Given the description of an element on the screen output the (x, y) to click on. 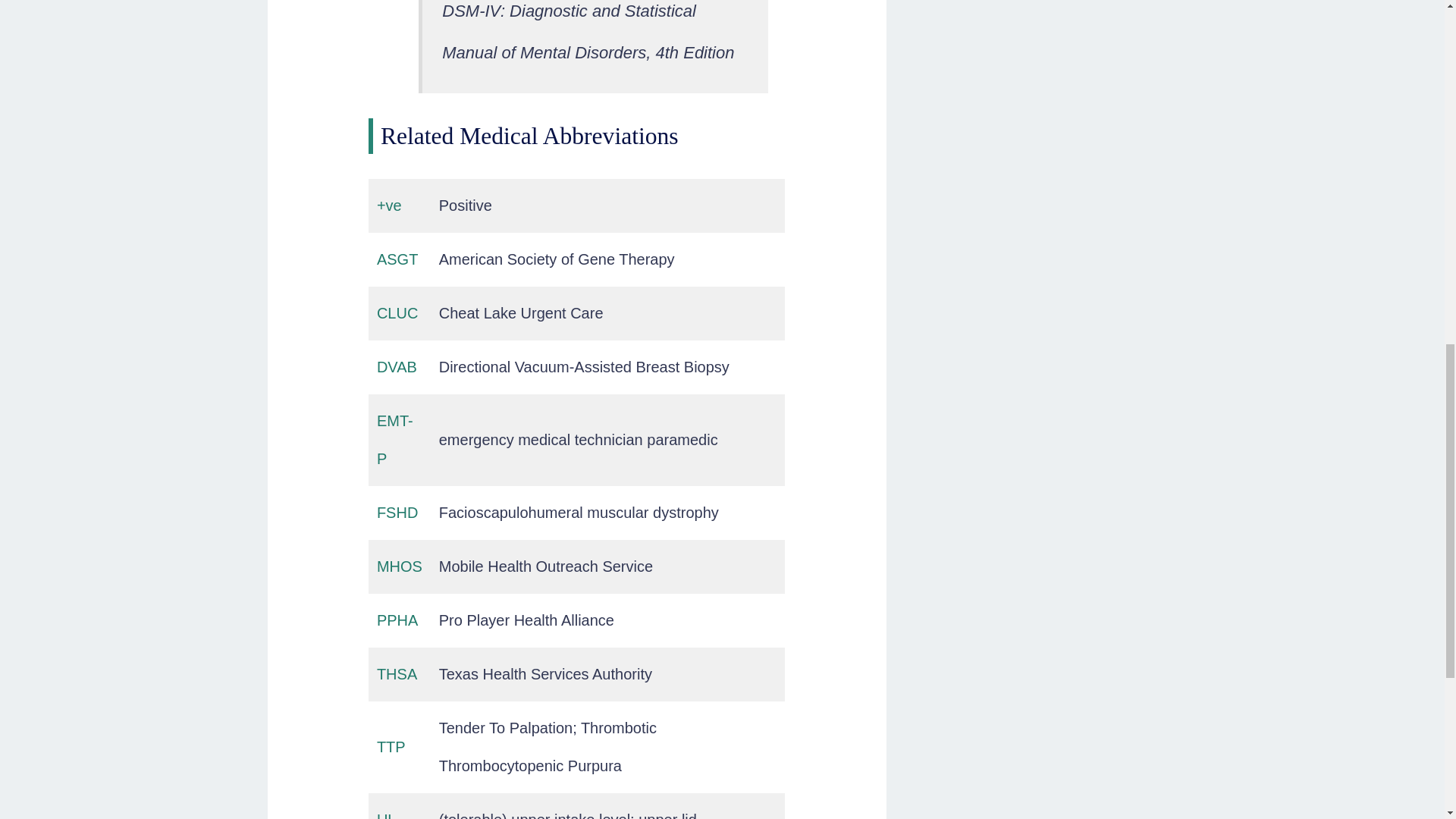
ASGT (397, 258)
DVAB (396, 366)
MHOS (399, 565)
FSHD (397, 512)
TTP (391, 746)
CLUC (397, 312)
UL (386, 815)
THSA (396, 673)
PPHA (397, 619)
